Given the description of an element on the screen output the (x, y) to click on. 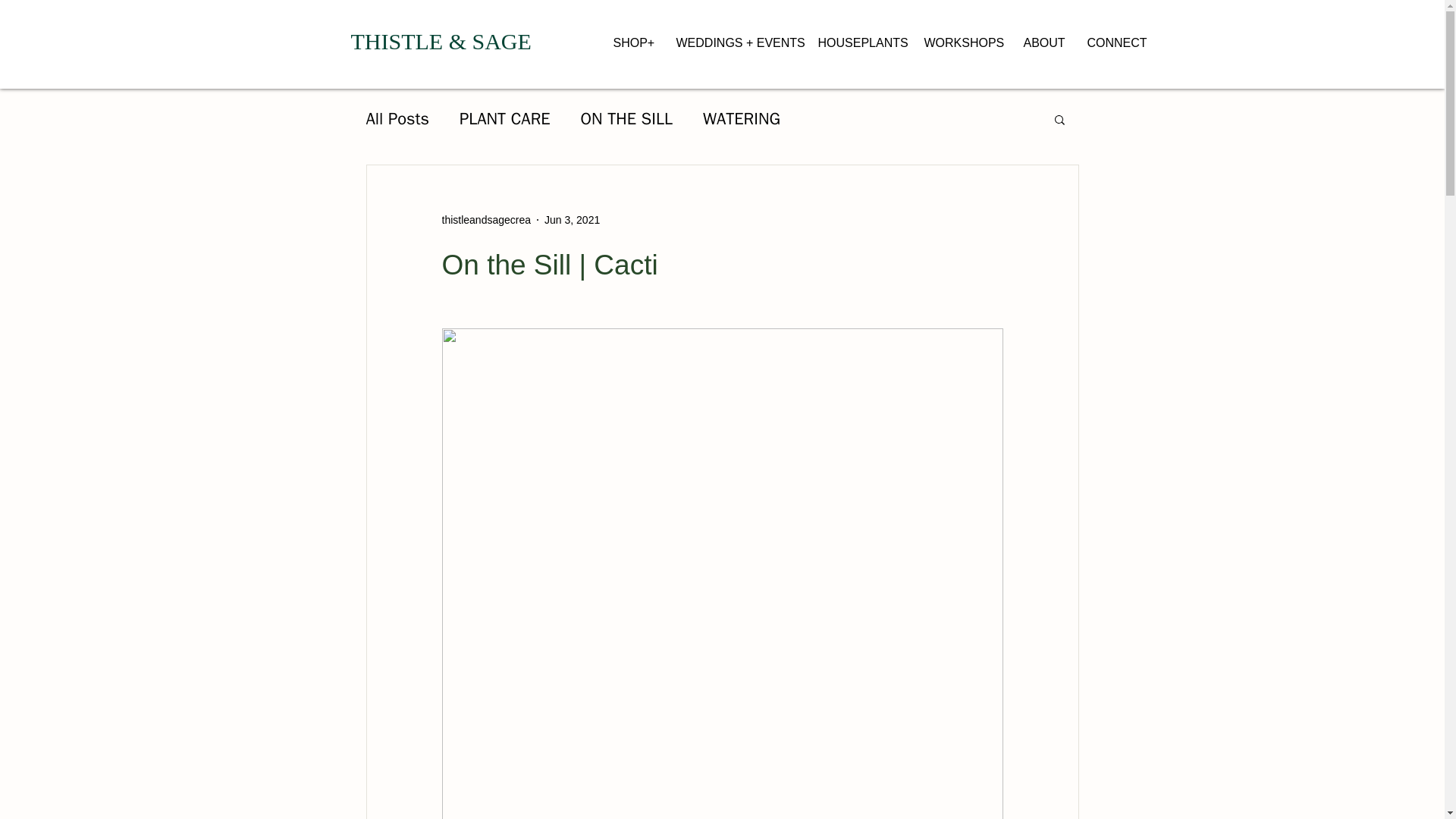
PLANT CARE (505, 118)
ON THE SILL (626, 118)
thistleandsagecrea (486, 220)
ABOUT (1043, 36)
WATERING (741, 118)
CONNECT (1115, 36)
Jun 3, 2021 (571, 219)
All Posts (397, 118)
HOUSEPLANTS (858, 36)
WORKSHOPS (960, 36)
